Given the description of an element on the screen output the (x, y) to click on. 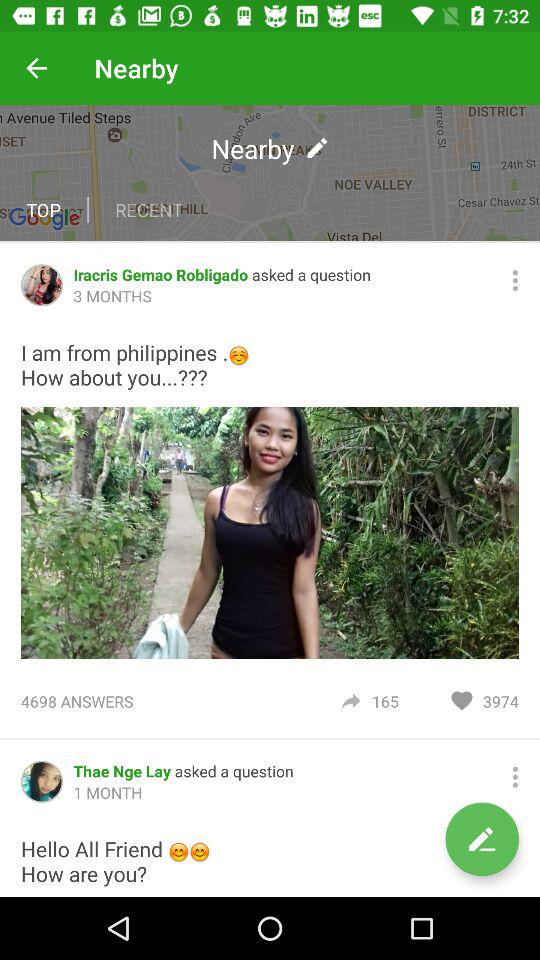
more options (515, 776)
